Given the description of an element on the screen output the (x, y) to click on. 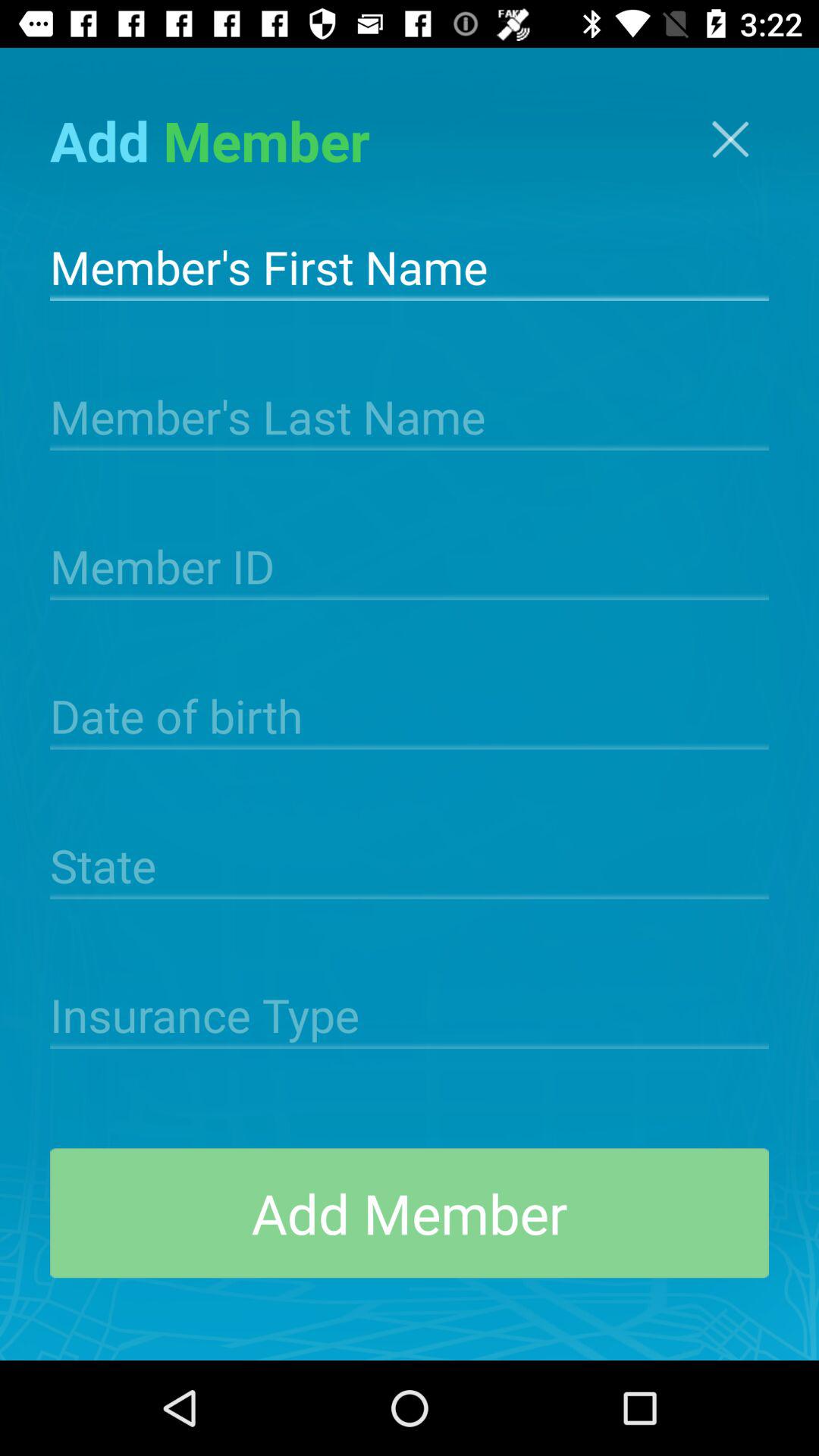
add first name (409, 265)
